Given the description of an element on the screen output the (x, y) to click on. 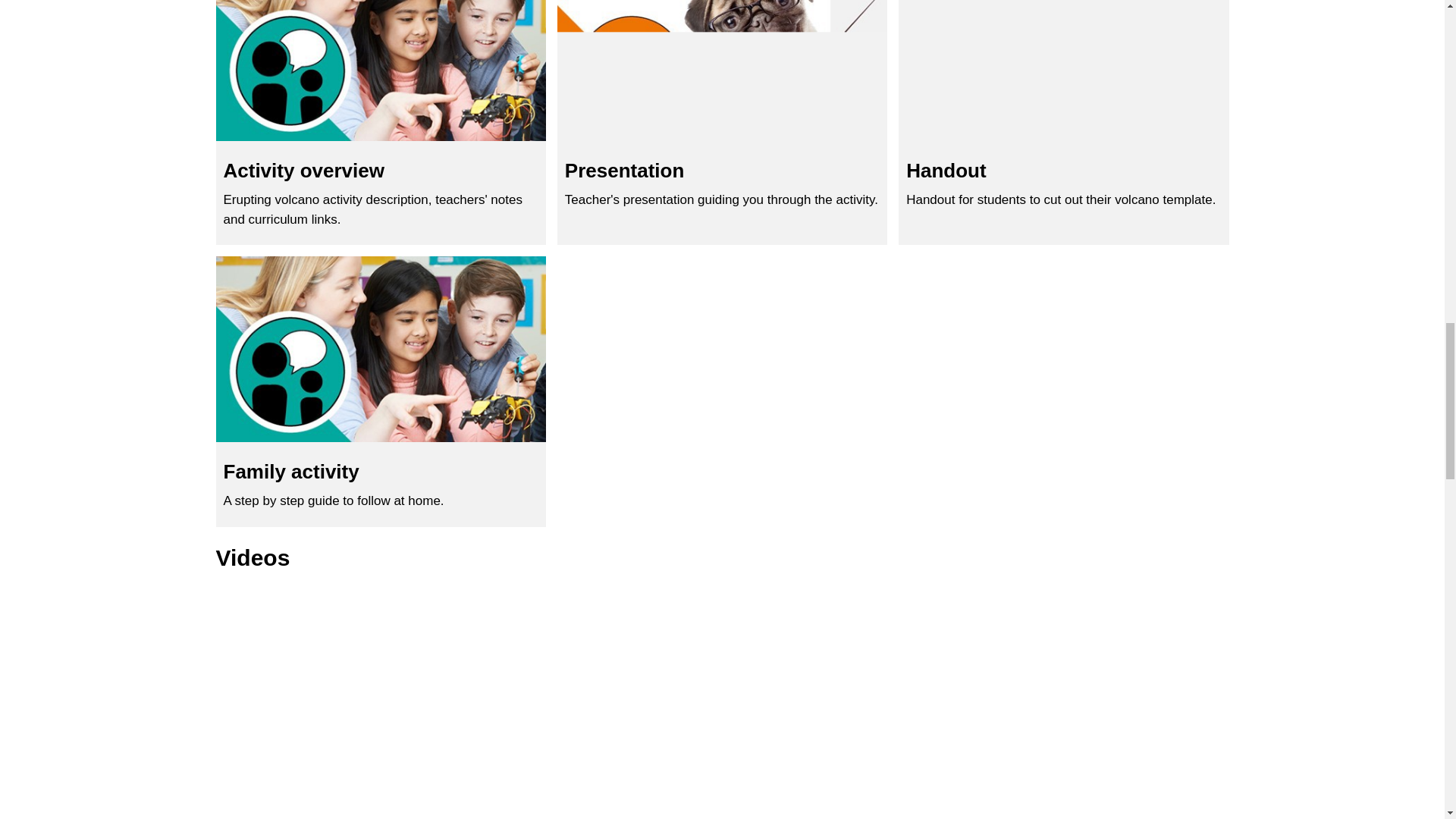
Volcano science experiment (379, 391)
